Given the description of an element on the screen output the (x, y) to click on. 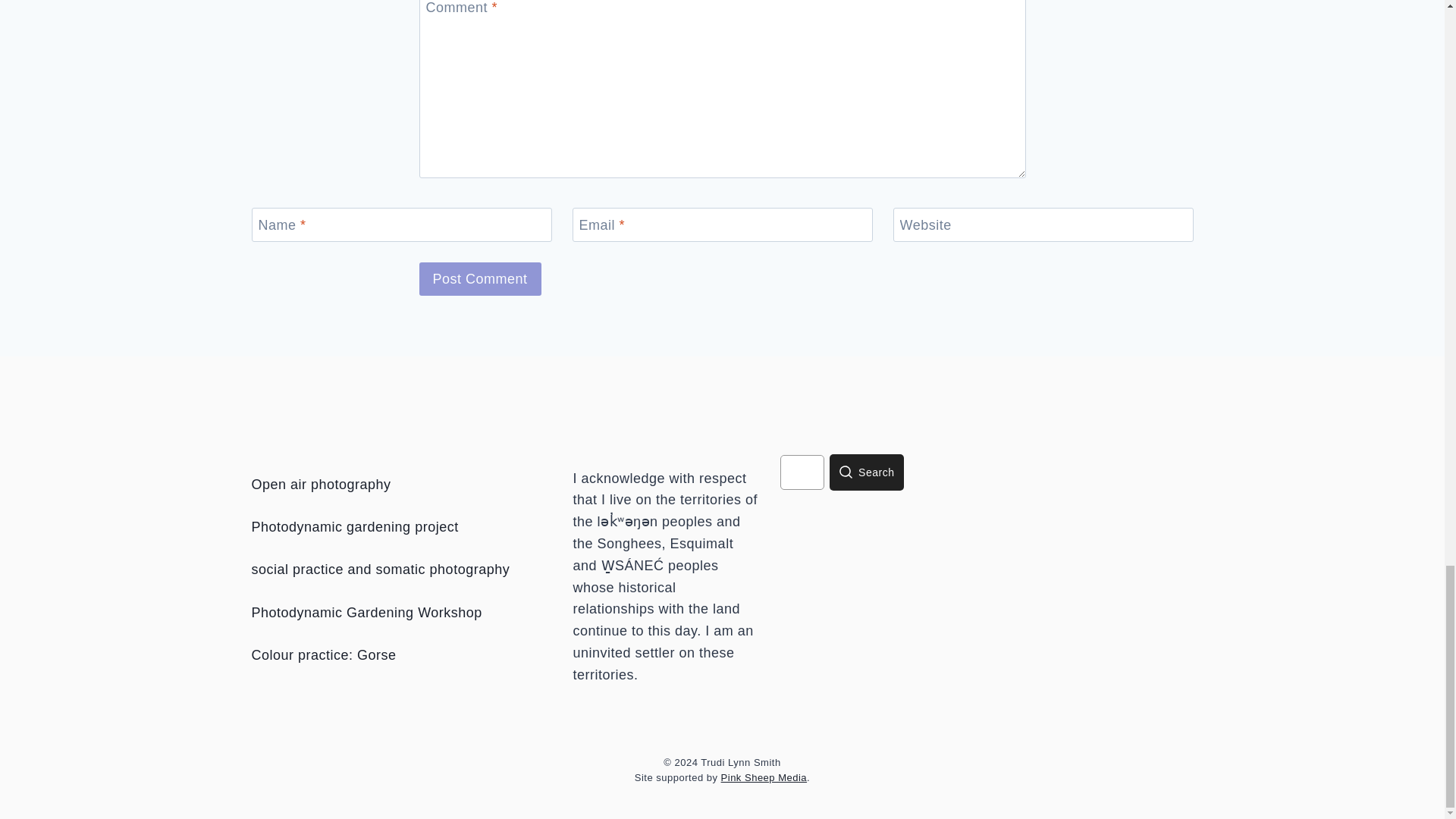
Post Comment (479, 278)
